Given the description of an element on the screen output the (x, y) to click on. 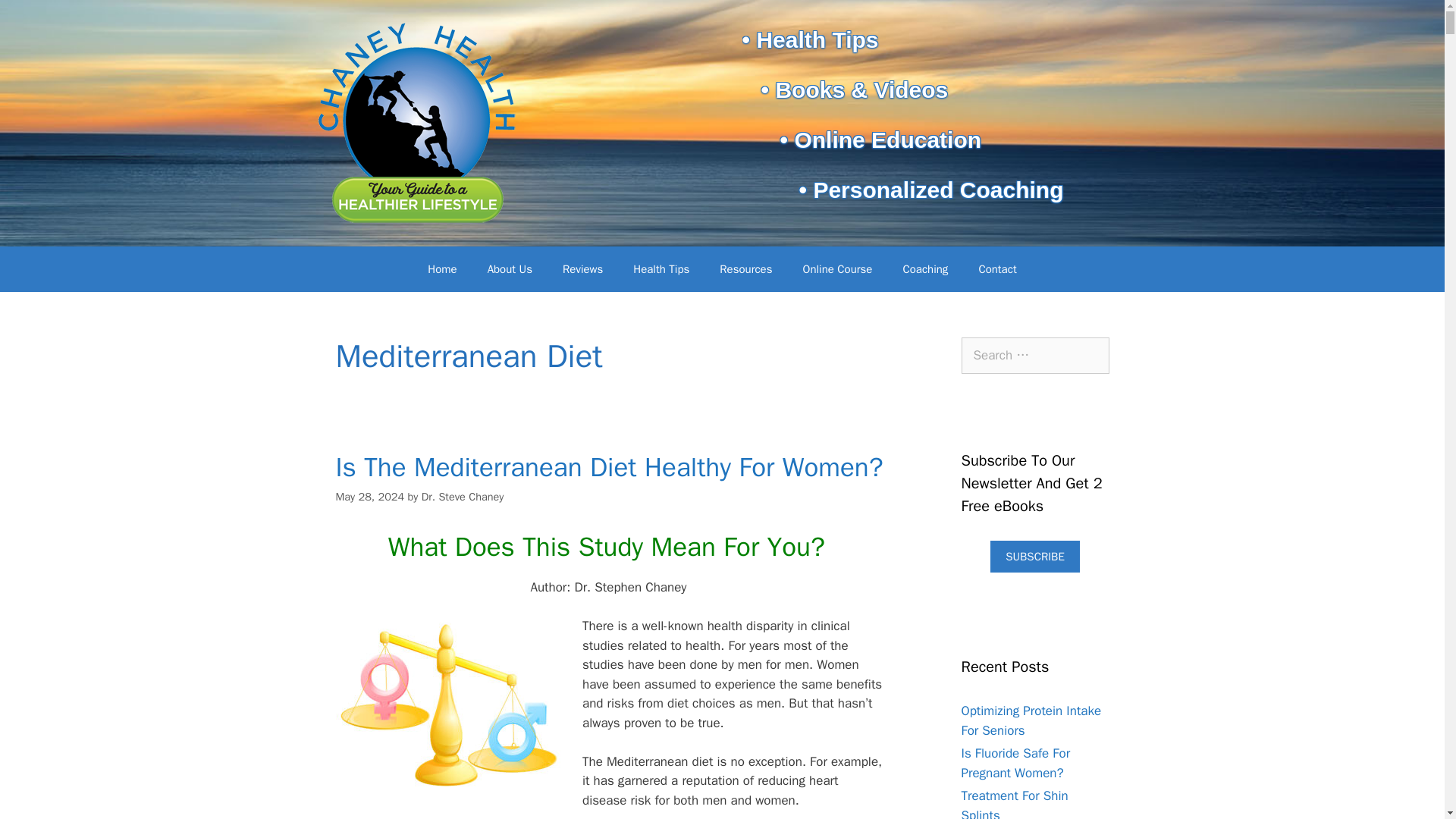
Coaching (924, 268)
About Us (509, 268)
Search for: (1034, 355)
Online Course (836, 268)
Home (441, 268)
Health Tips (660, 268)
Is The Mediterranean Diet Healthy For Women? (608, 467)
Contact (996, 268)
Resources (745, 268)
Dr. Steve Chaney (462, 496)
